Given the description of an element on the screen output the (x, y) to click on. 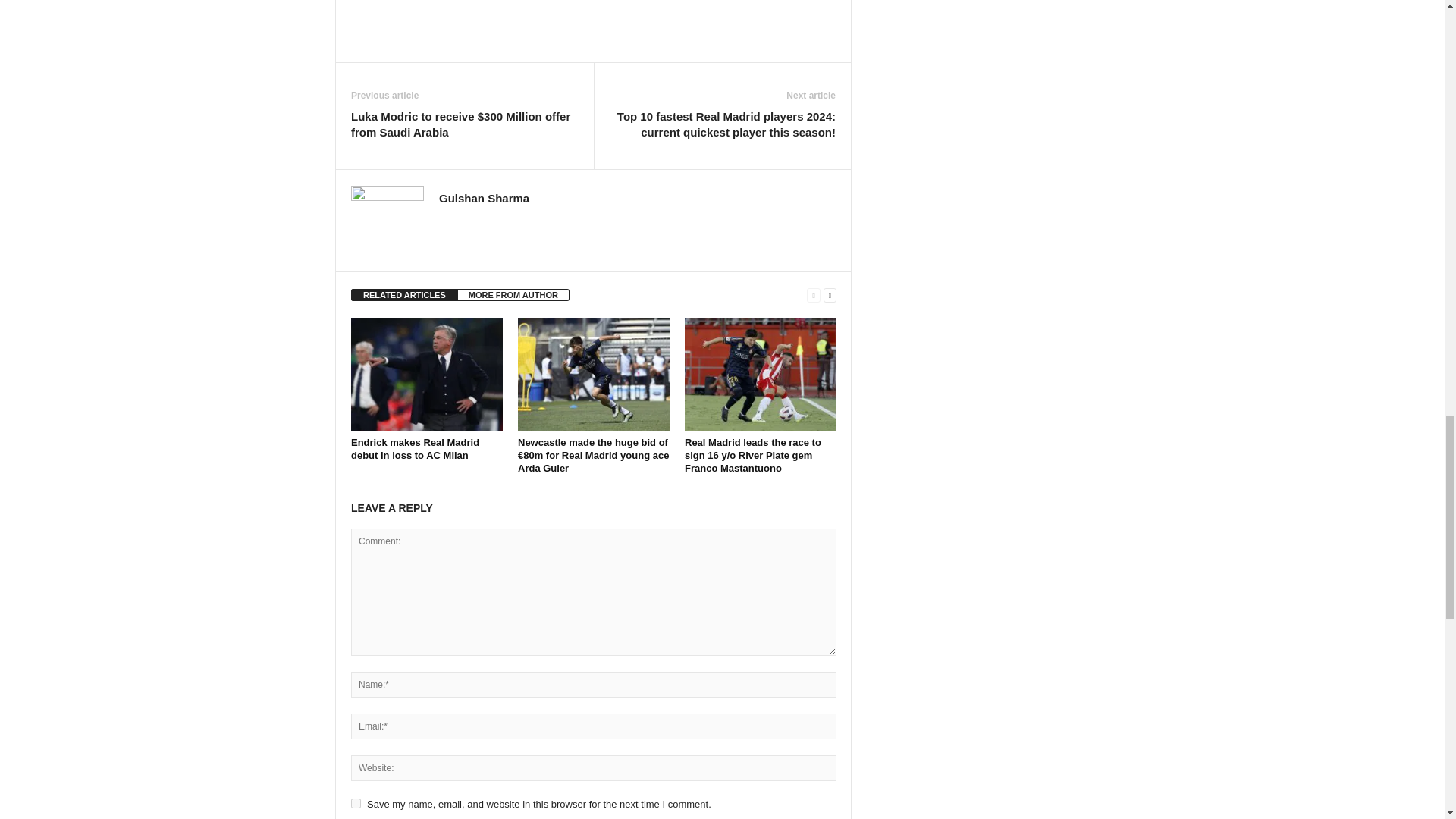
bottomFacebookLike (390, 9)
yes (355, 803)
